Given the description of an element on the screen output the (x, y) to click on. 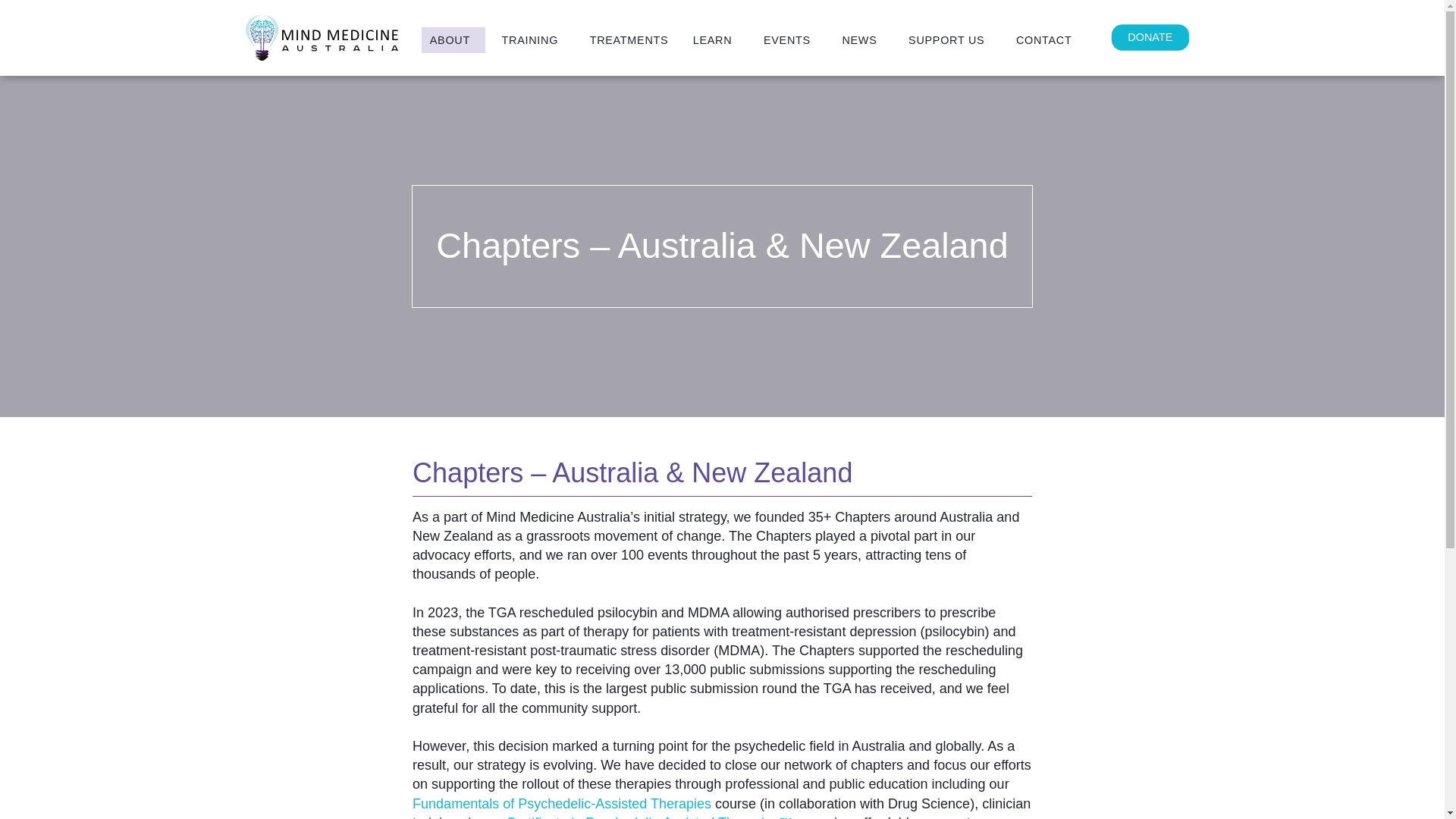
LEARN (715, 40)
EVENTS (790, 40)
ABOUT (453, 40)
TREATMENTS (628, 40)
TRAINING (533, 40)
